Given the description of an element on the screen output the (x, y) to click on. 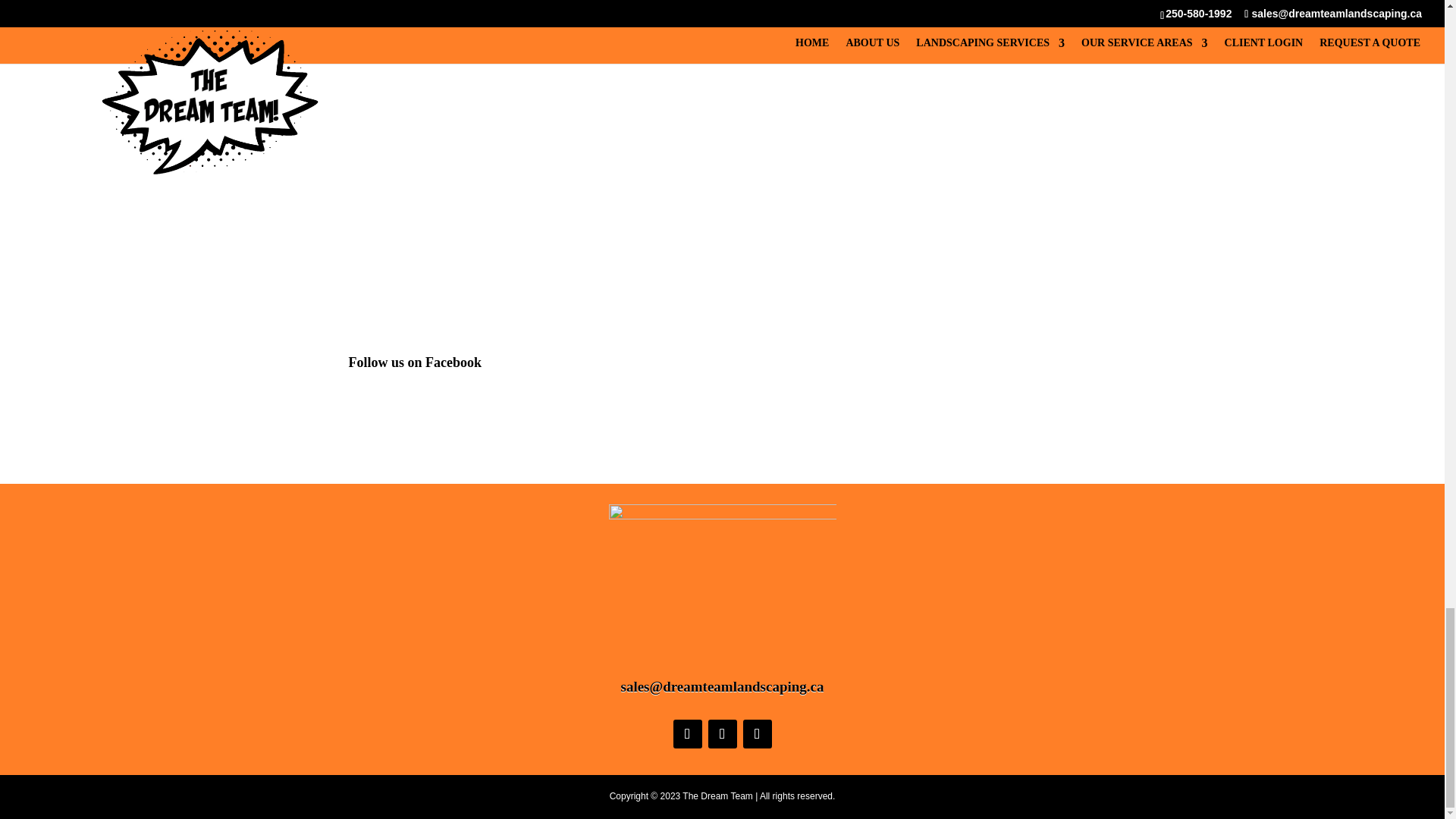
Follow on Youtube (721, 733)
The Dream Team (505, 162)
Follow on Facebook (686, 733)
Follow on Instagram (756, 733)
